Given the description of an element on the screen output the (x, y) to click on. 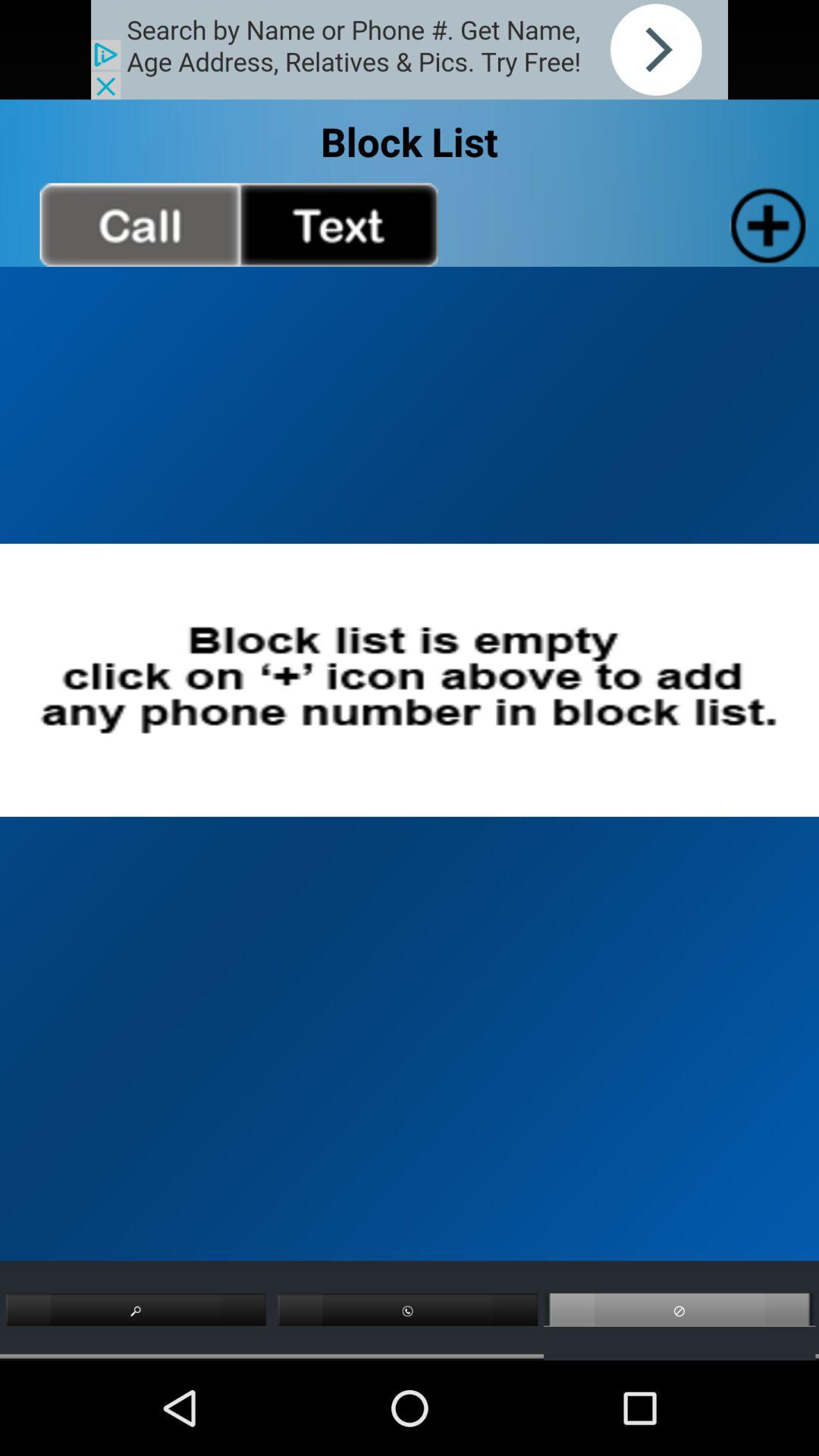
blocked text numbers list (337, 224)
